Given the description of an element on the screen output the (x, y) to click on. 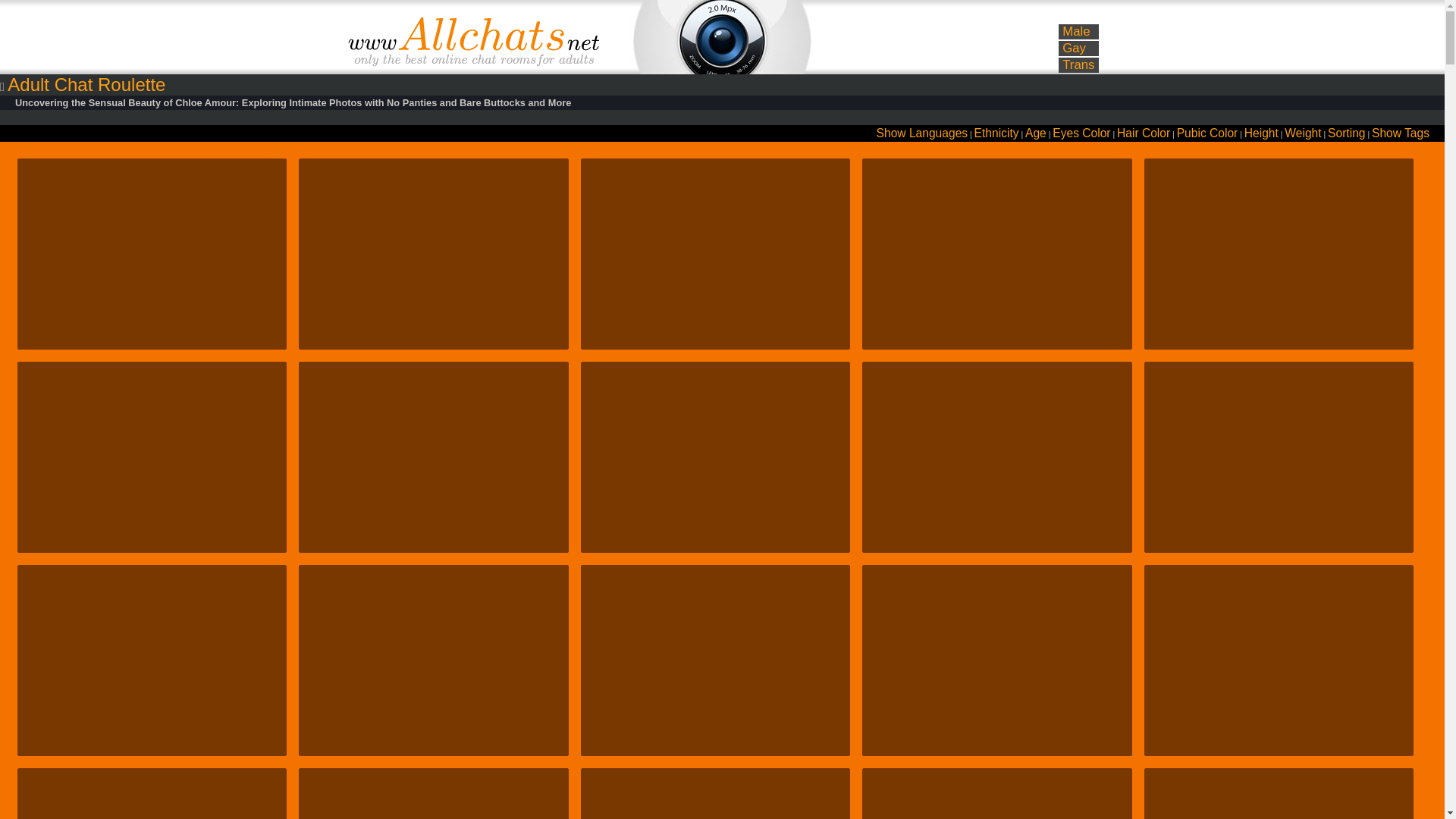
Trans (1078, 64)
Male (1075, 31)
Height (1261, 132)
Hair Color (1143, 132)
Age (1035, 132)
Pubic Color (1207, 132)
Show Tags (1400, 132)
Weight (1302, 132)
